Given the description of an element on the screen output the (x, y) to click on. 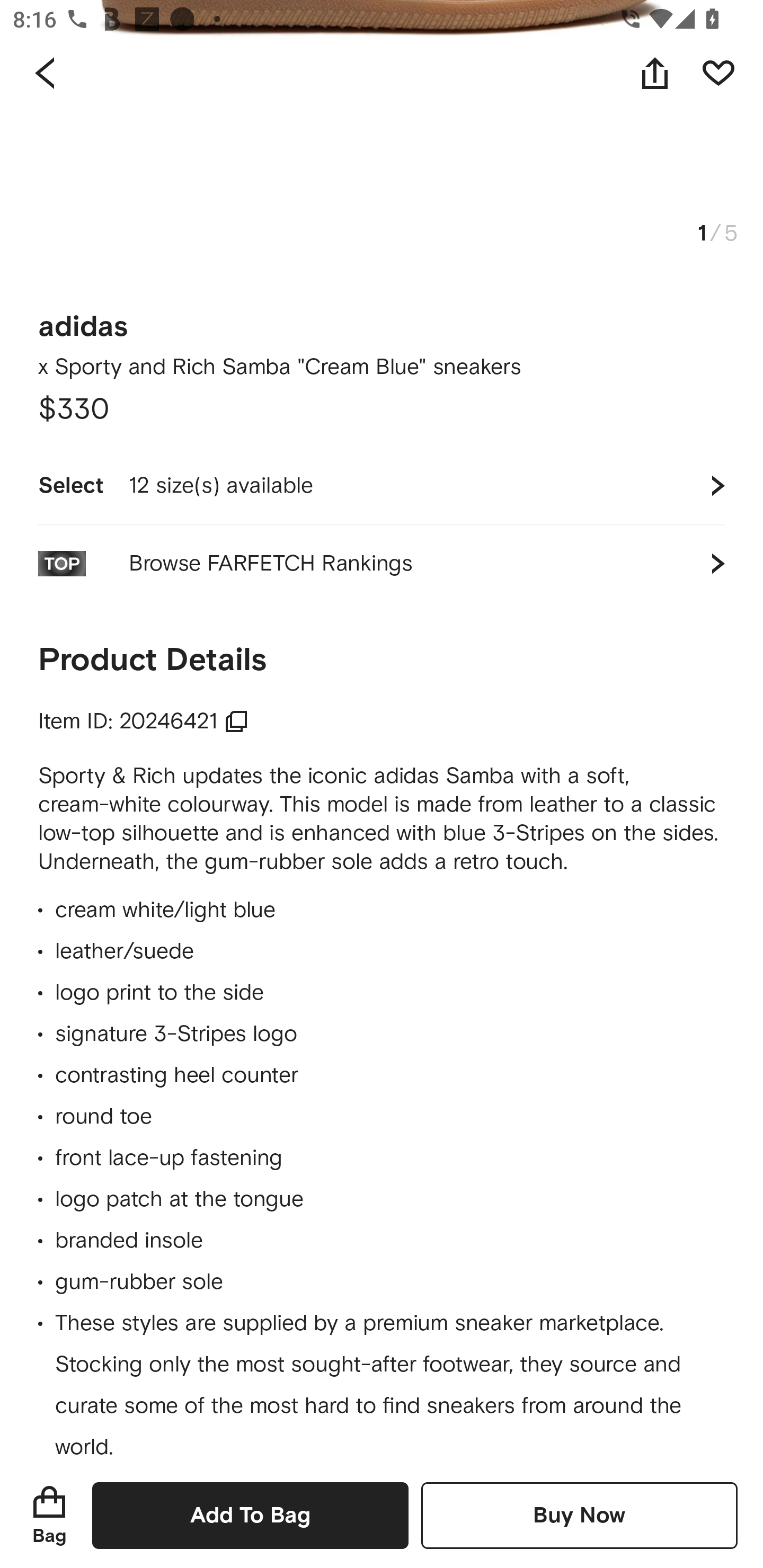
adidas (83, 320)
Select 12 size(s) available (381, 484)
Browse FARFETCH Rankings (381, 563)
Item ID: 20246421 (143, 721)
Bag (49, 1515)
Add To Bag (250, 1515)
Buy Now (579, 1515)
